Given the description of an element on the screen output the (x, y) to click on. 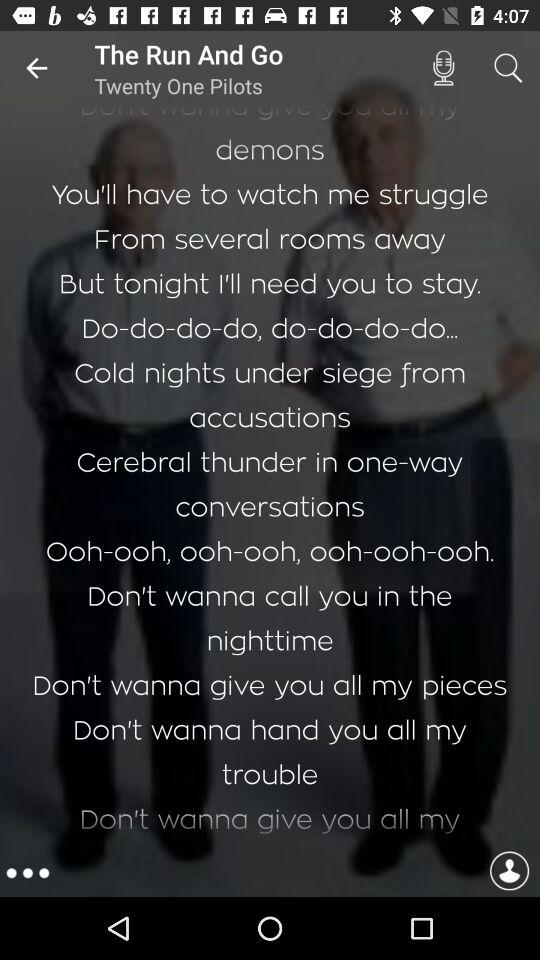
turn off the icon next to the run and icon (443, 67)
